Given the description of an element on the screen output the (x, y) to click on. 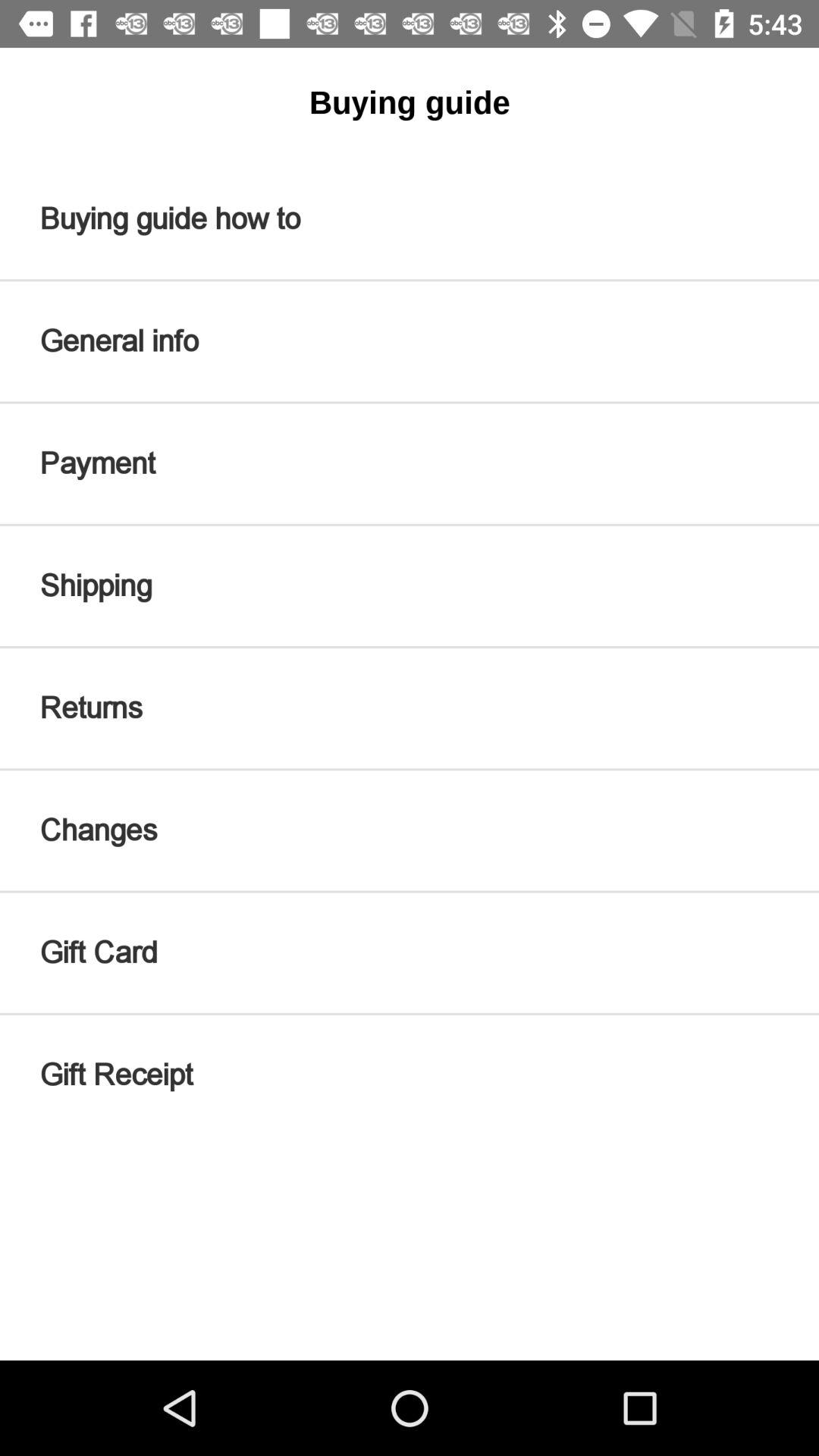
select the payment icon (409, 463)
